Given the description of an element on the screen output the (x, y) to click on. 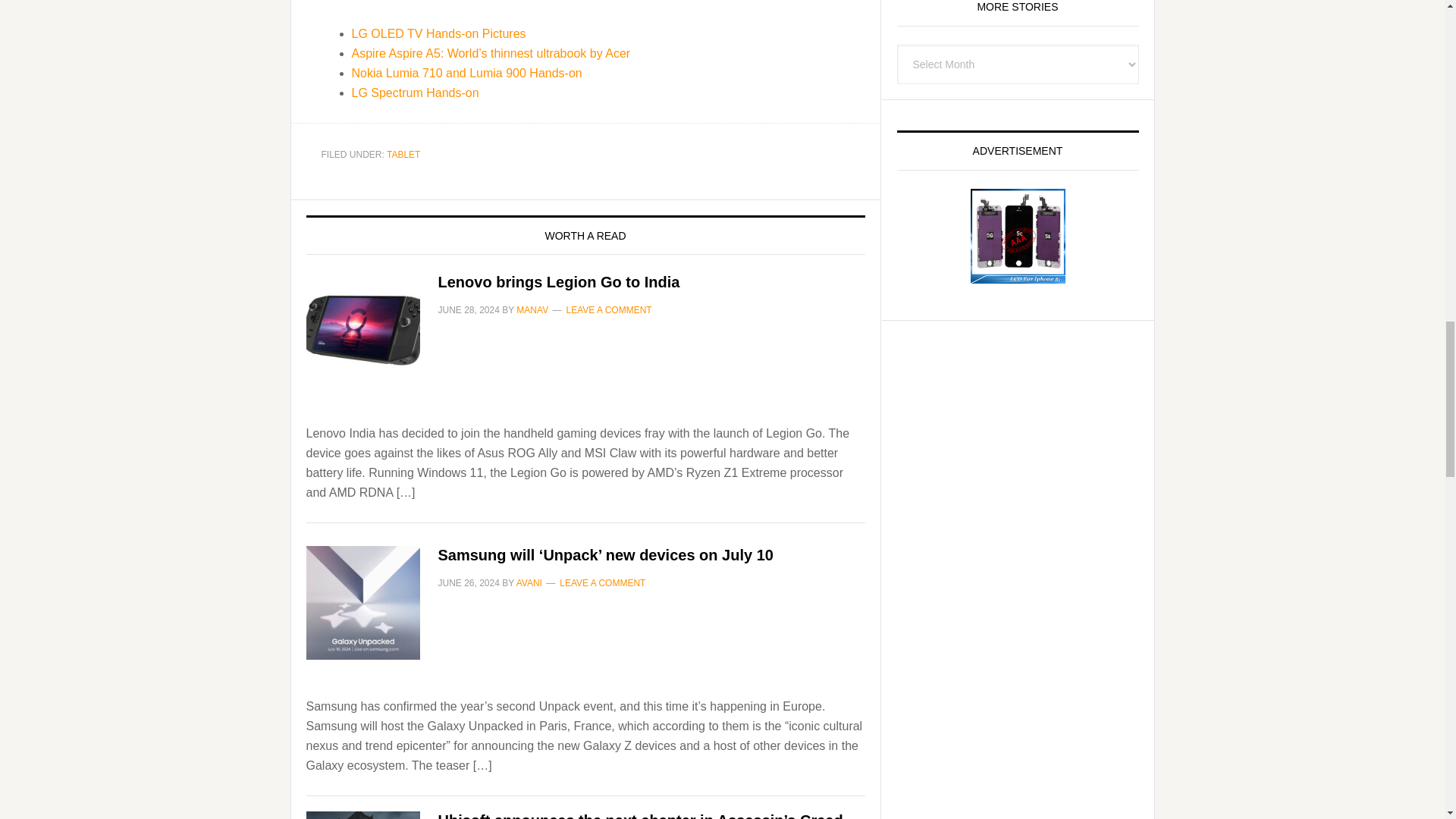
Nokia Lumia 710 and Lumia 900 Hands-on (467, 72)
LG OLED TV Hands-on Pictures (438, 33)
LG Spectrum Hands-on (415, 92)
